Given the description of an element on the screen output the (x, y) to click on. 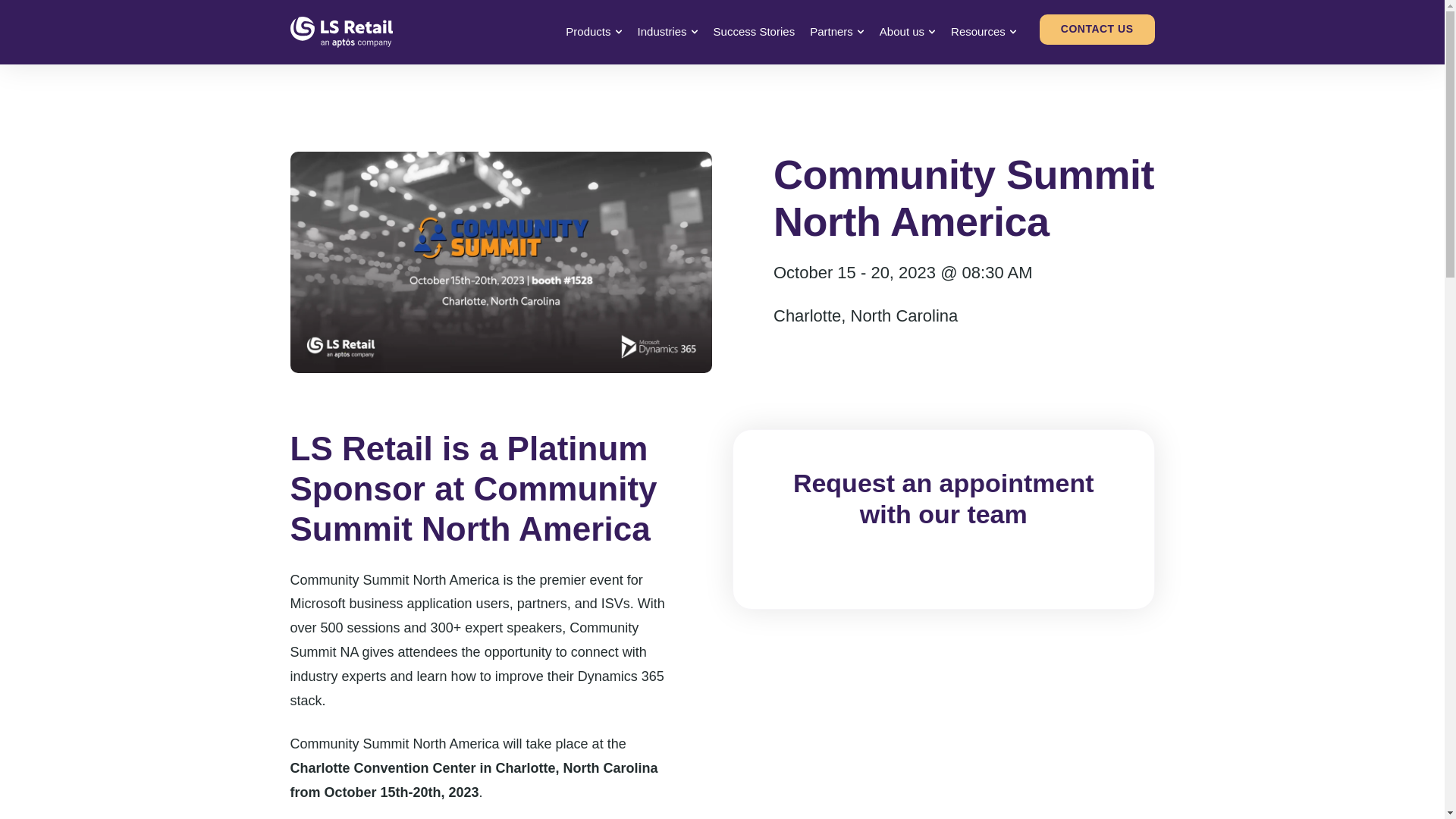
ls-retail-logo-white (340, 31)
Show submenu for Industries (694, 31)
Show submenu for Products (618, 31)
